Given the description of an element on the screen output the (x, y) to click on. 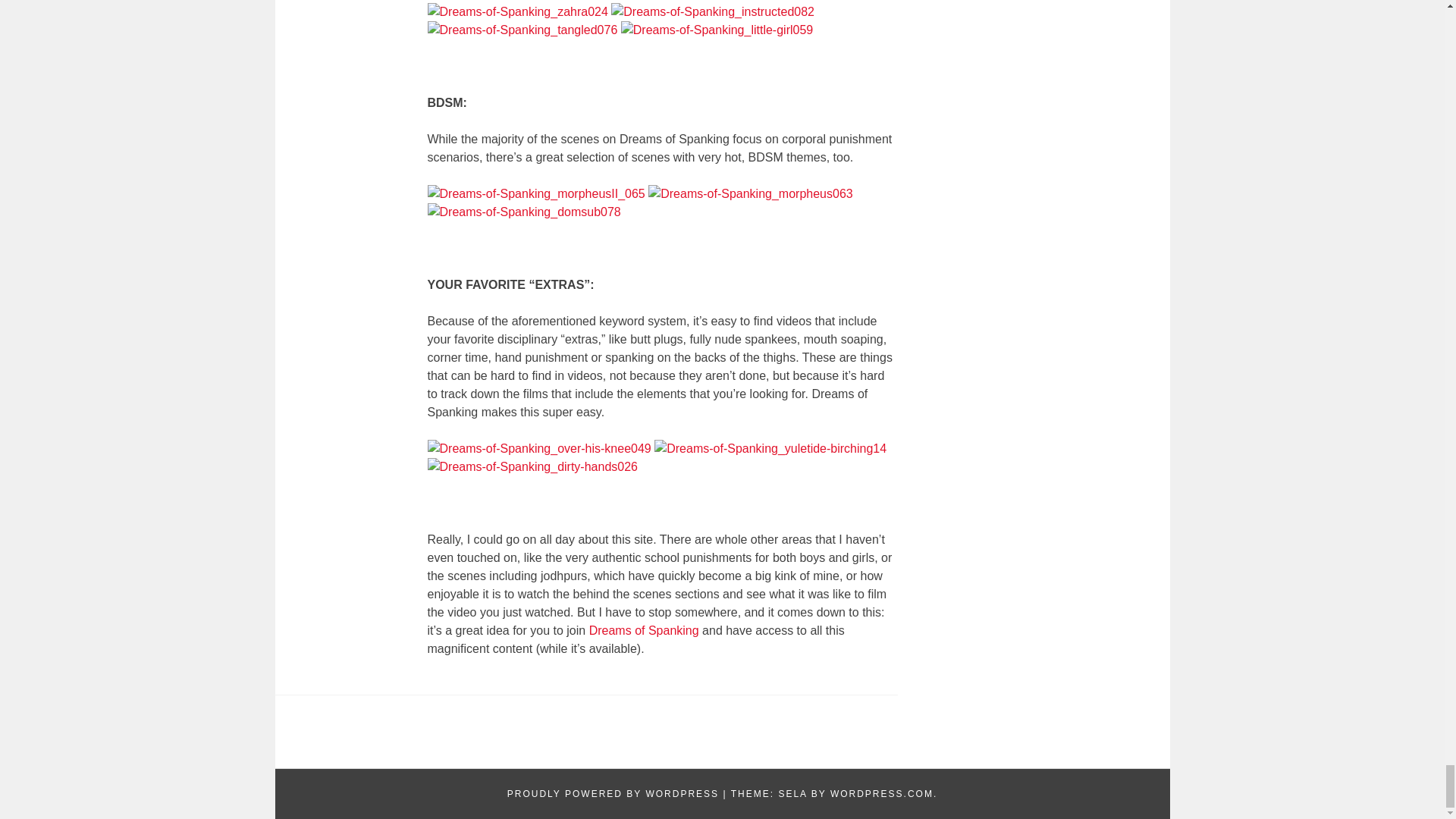
A Semantic Personal Publishing Platform (612, 793)
